Given the description of an element on the screen output the (x, y) to click on. 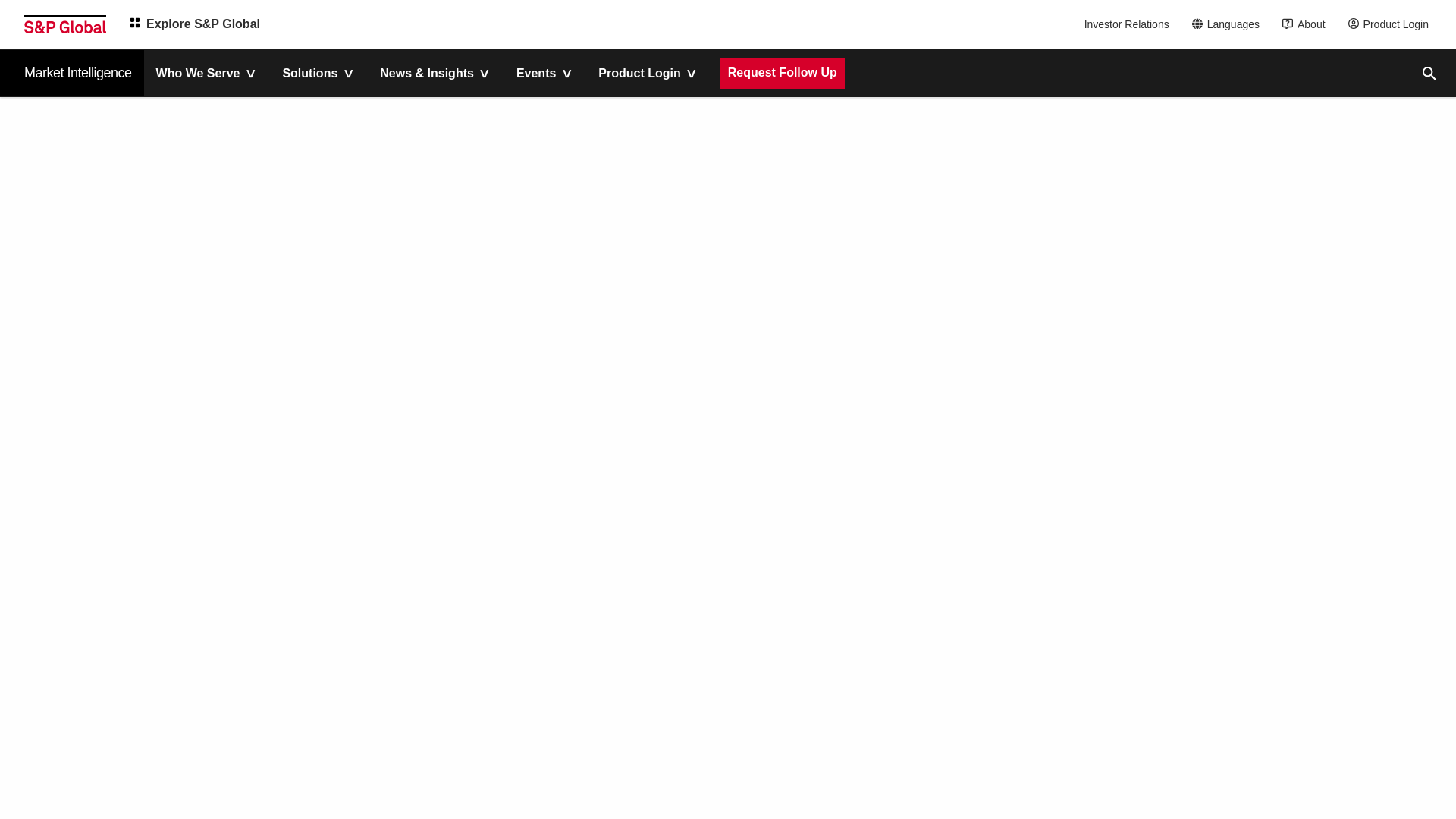
Investor Relations (1129, 24)
Languages (1230, 24)
About (1307, 24)
Product Login (1392, 24)
